Given the description of an element on the screen output the (x, y) to click on. 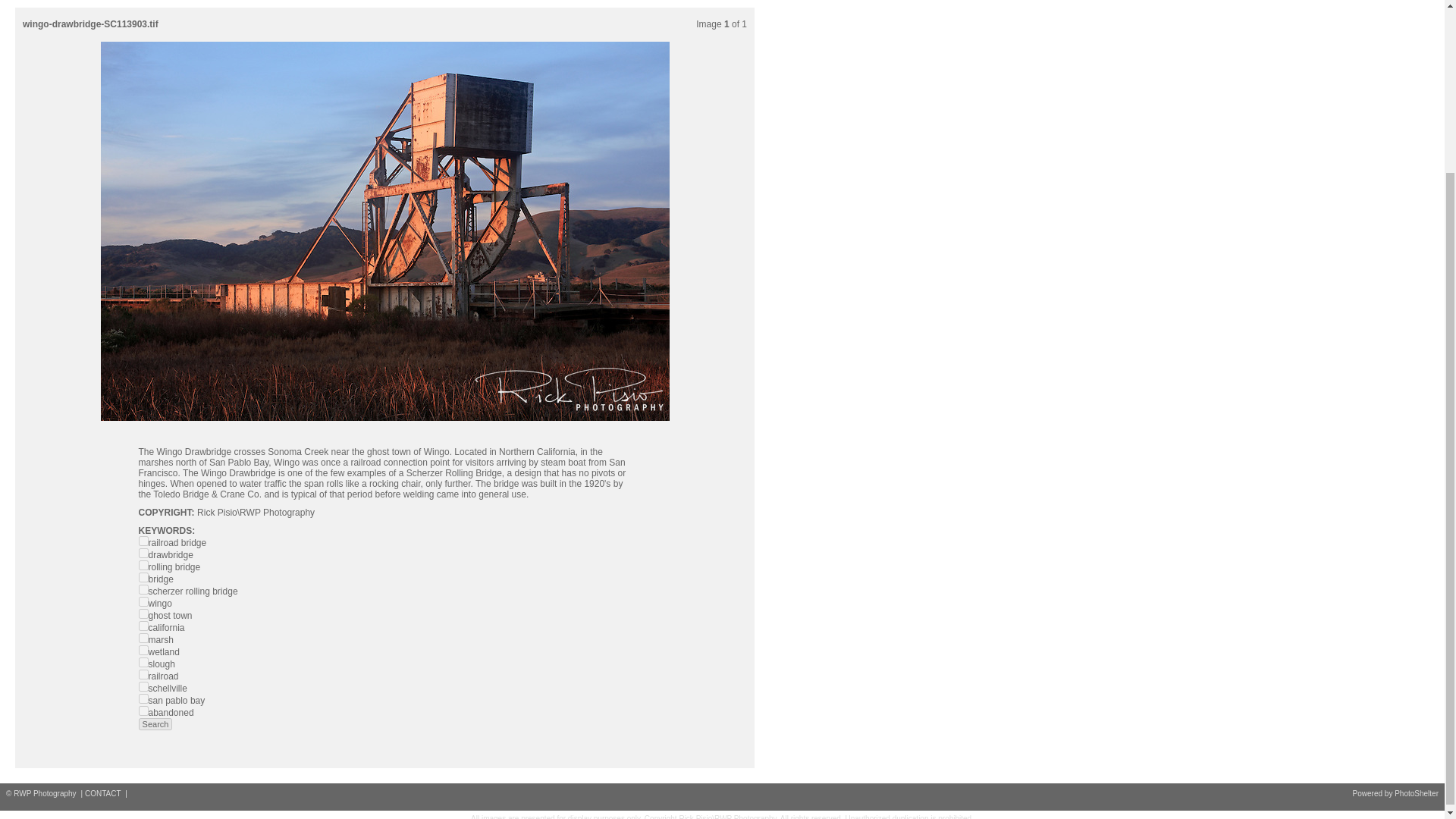
marsh (143, 637)
wingo (143, 601)
bridge (143, 577)
abandoned (143, 710)
PhotoShelter (1416, 793)
rolling bridge (143, 565)
 Search  (154, 724)
san pablo bay (143, 698)
slough (143, 662)
scherzer rolling bridge (143, 589)
ghost town (143, 614)
wetland (143, 650)
 Search  (154, 724)
railroad (143, 674)
railroad bridge (143, 541)
